Given the description of an element on the screen output the (x, y) to click on. 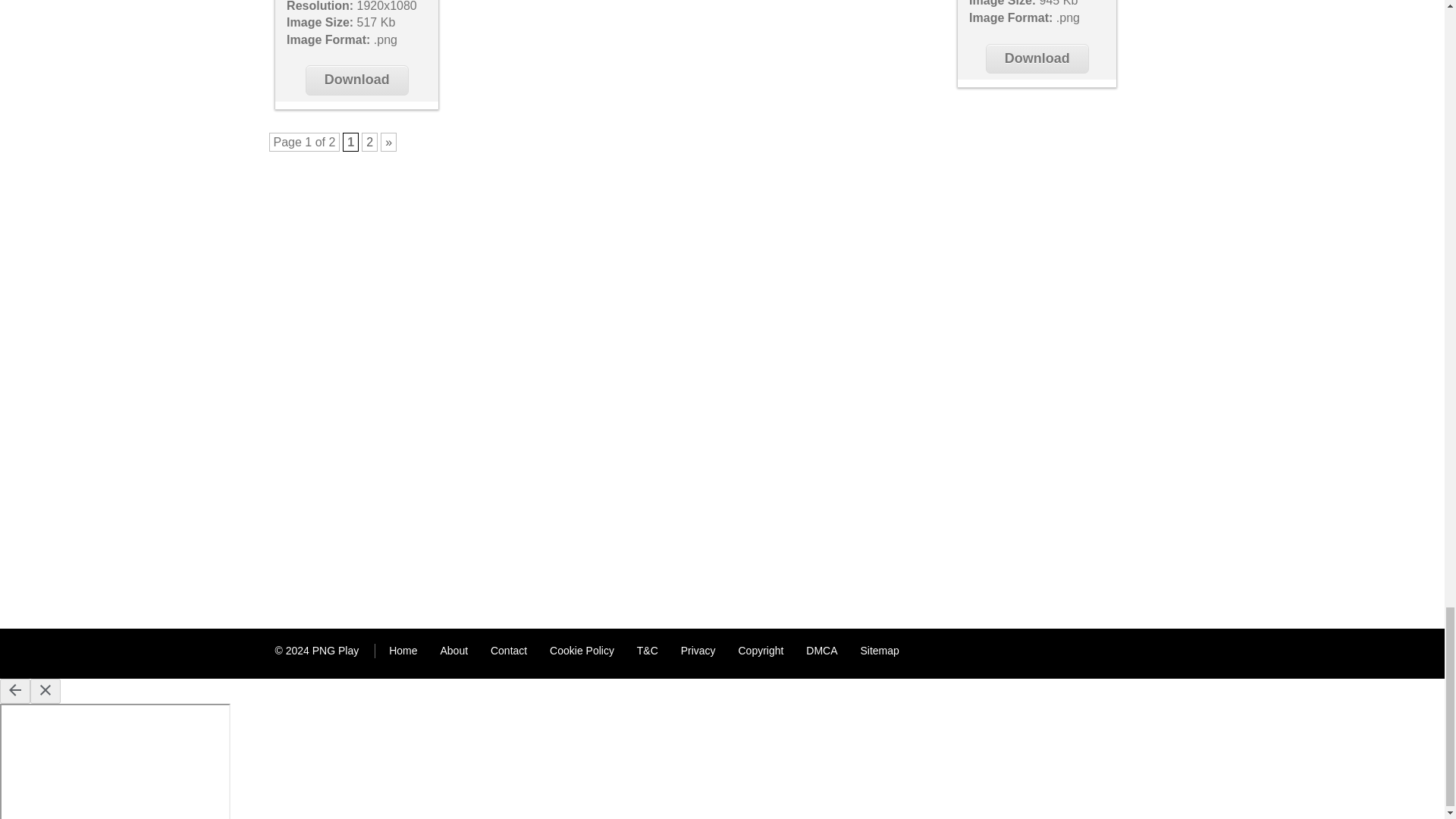
Download (357, 80)
